Given the description of an element on the screen output the (x, y) to click on. 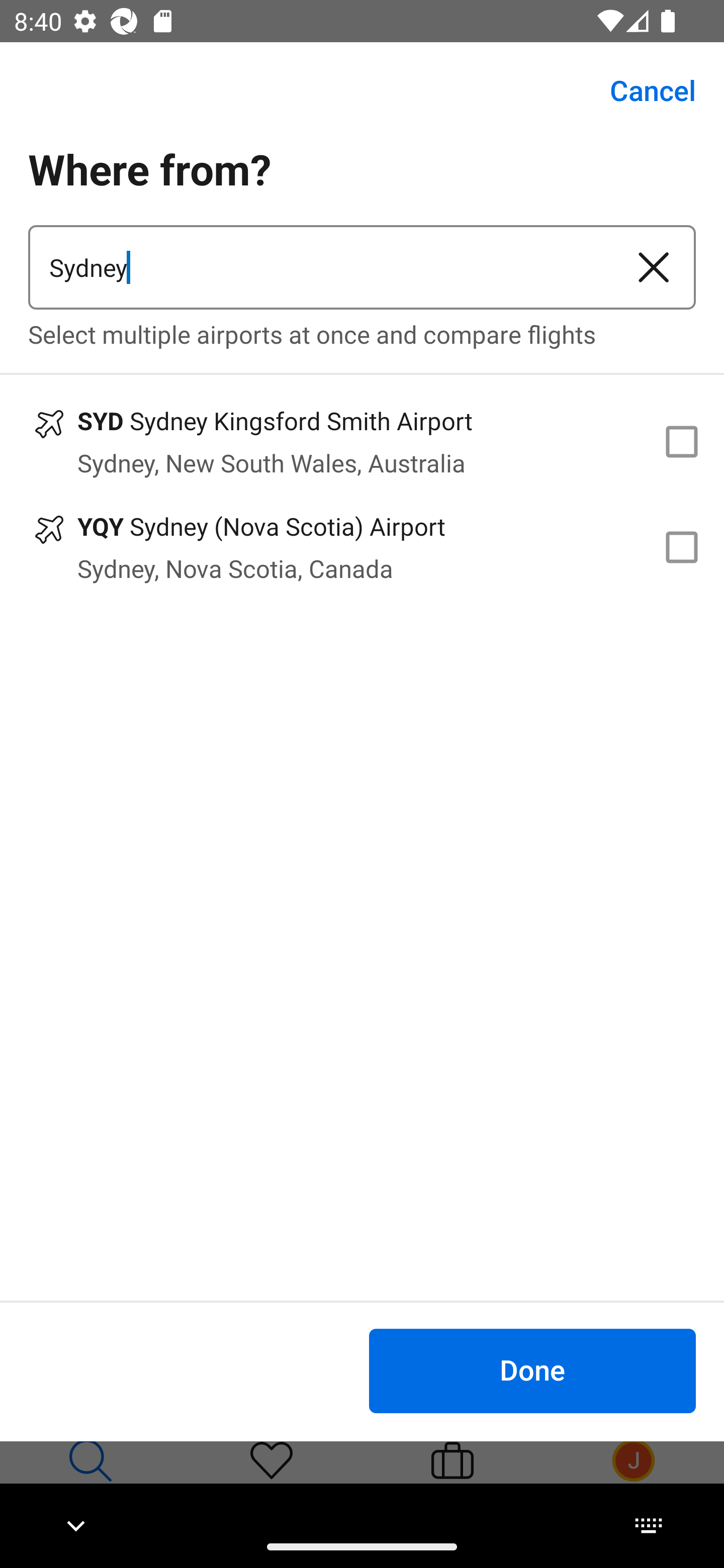
Cancel (641, 90)
Sydney (319, 266)
Clear airport or city (653, 266)
Done (532, 1370)
